Given the description of an element on the screen output the (x, y) to click on. 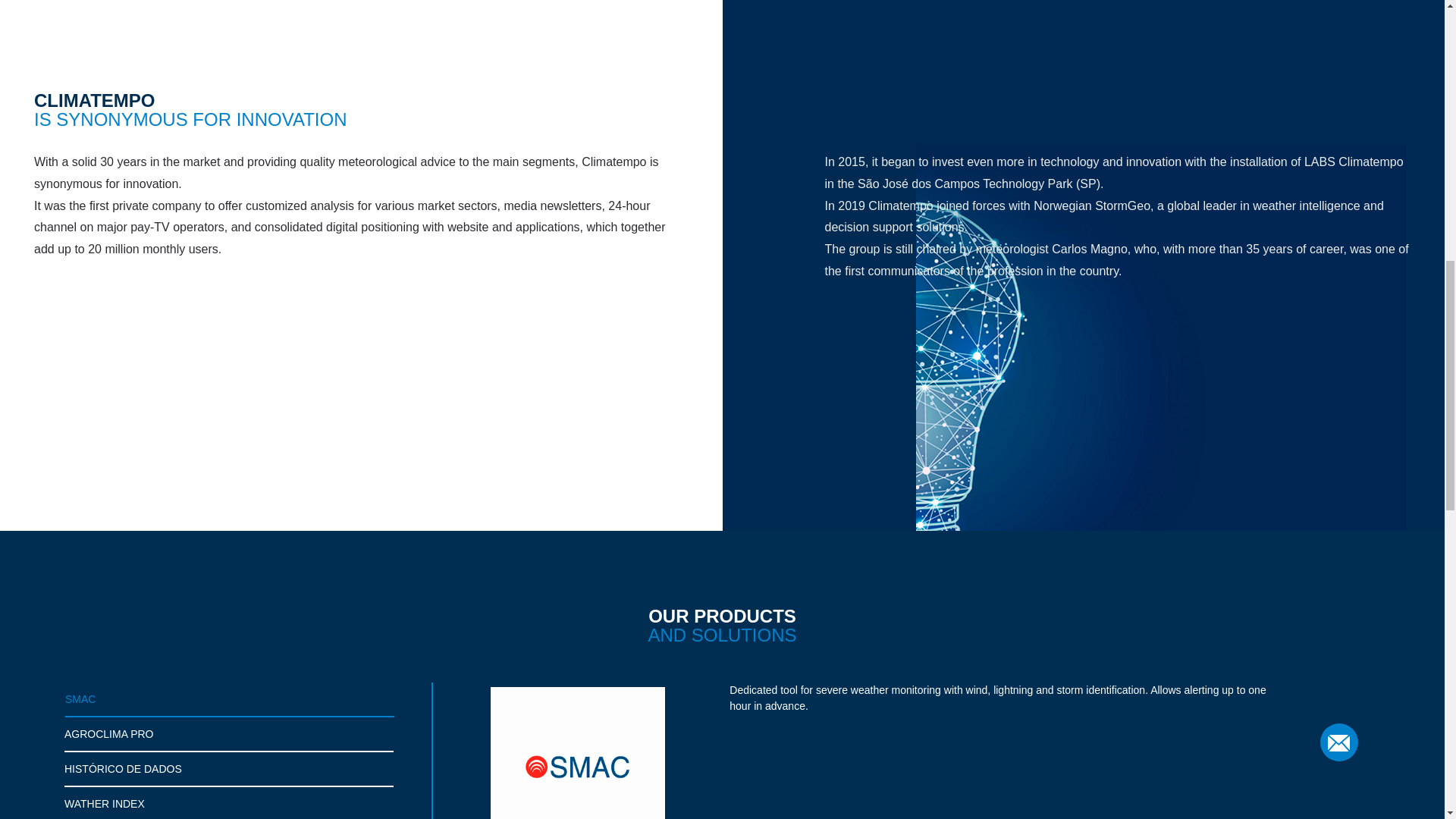
WATHER INDEX (228, 803)
SMAC (231, 699)
AGROCLIMA PRO (229, 734)
